Given the description of an element on the screen output the (x, y) to click on. 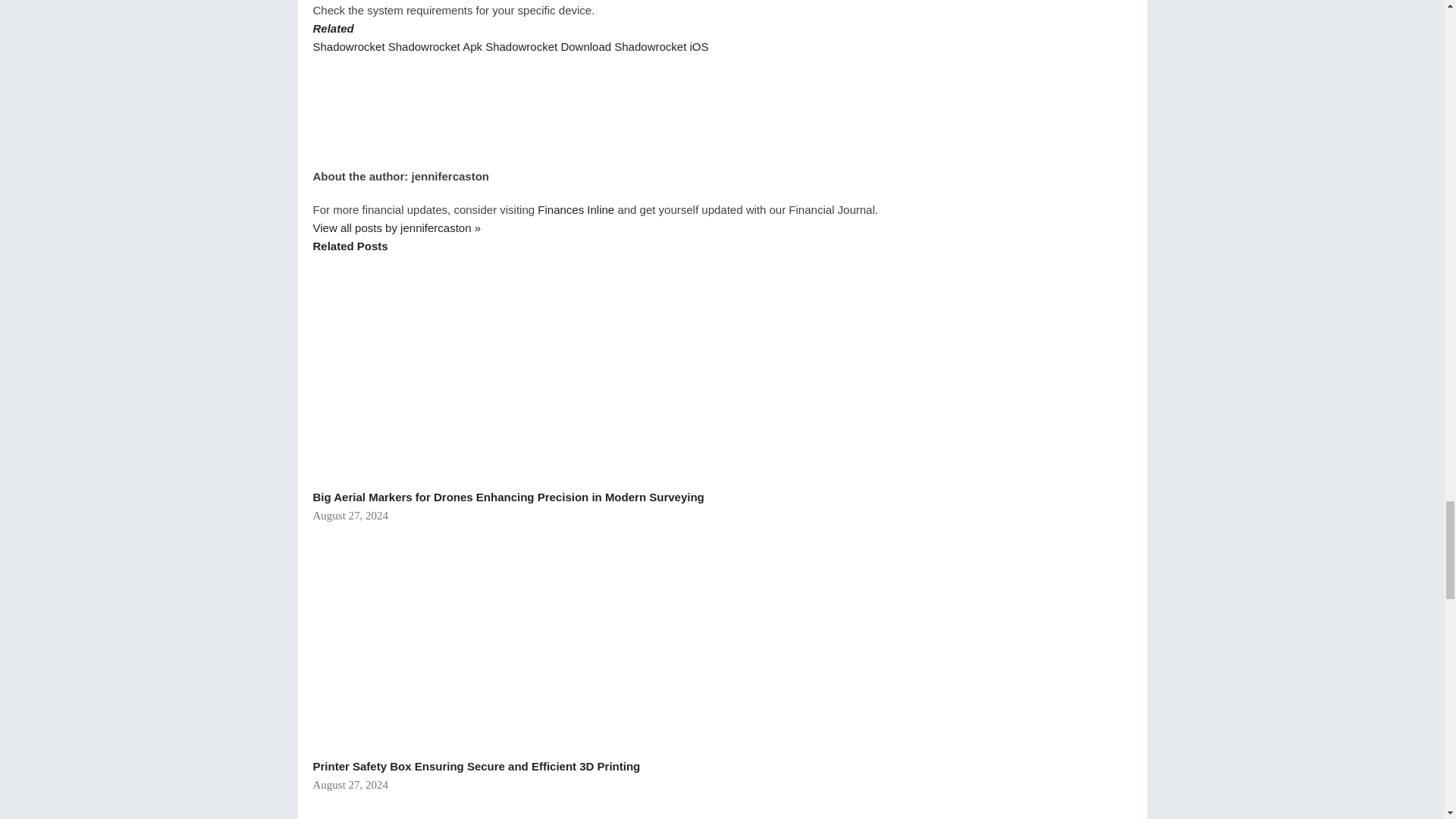
Printer Safety Box Ensuring Secure and Efficient 3D Printing (459, 638)
Security Camera Prices in Lahore: A Comprehensive Guide (495, 806)
